Given the description of an element on the screen output the (x, y) to click on. 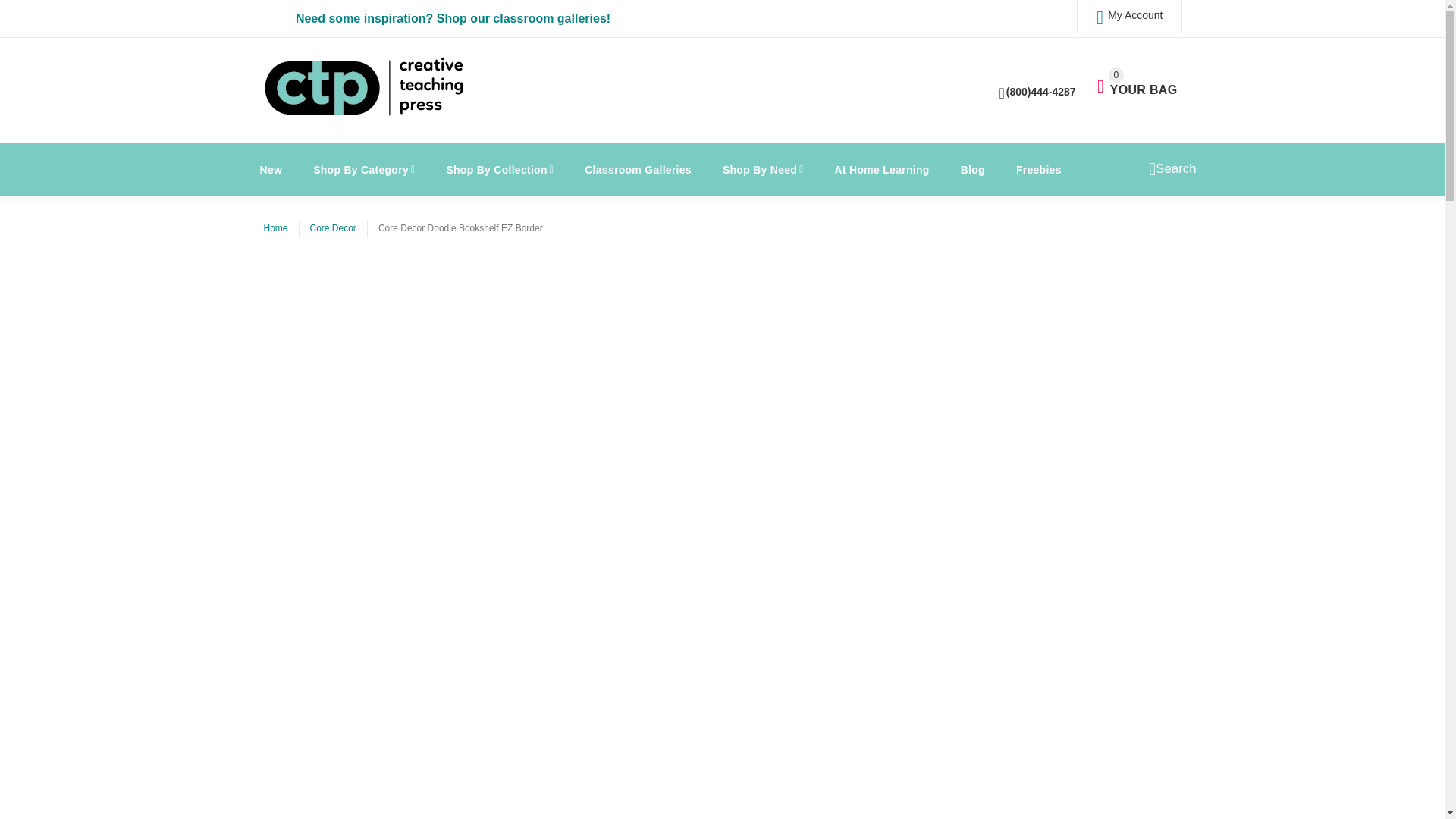
Shop By Category (1136, 82)
My Account (364, 168)
New (1128, 17)
Need some inspiration? Shop our classroom galleries! (271, 168)
